Given the description of an element on the screen output the (x, y) to click on. 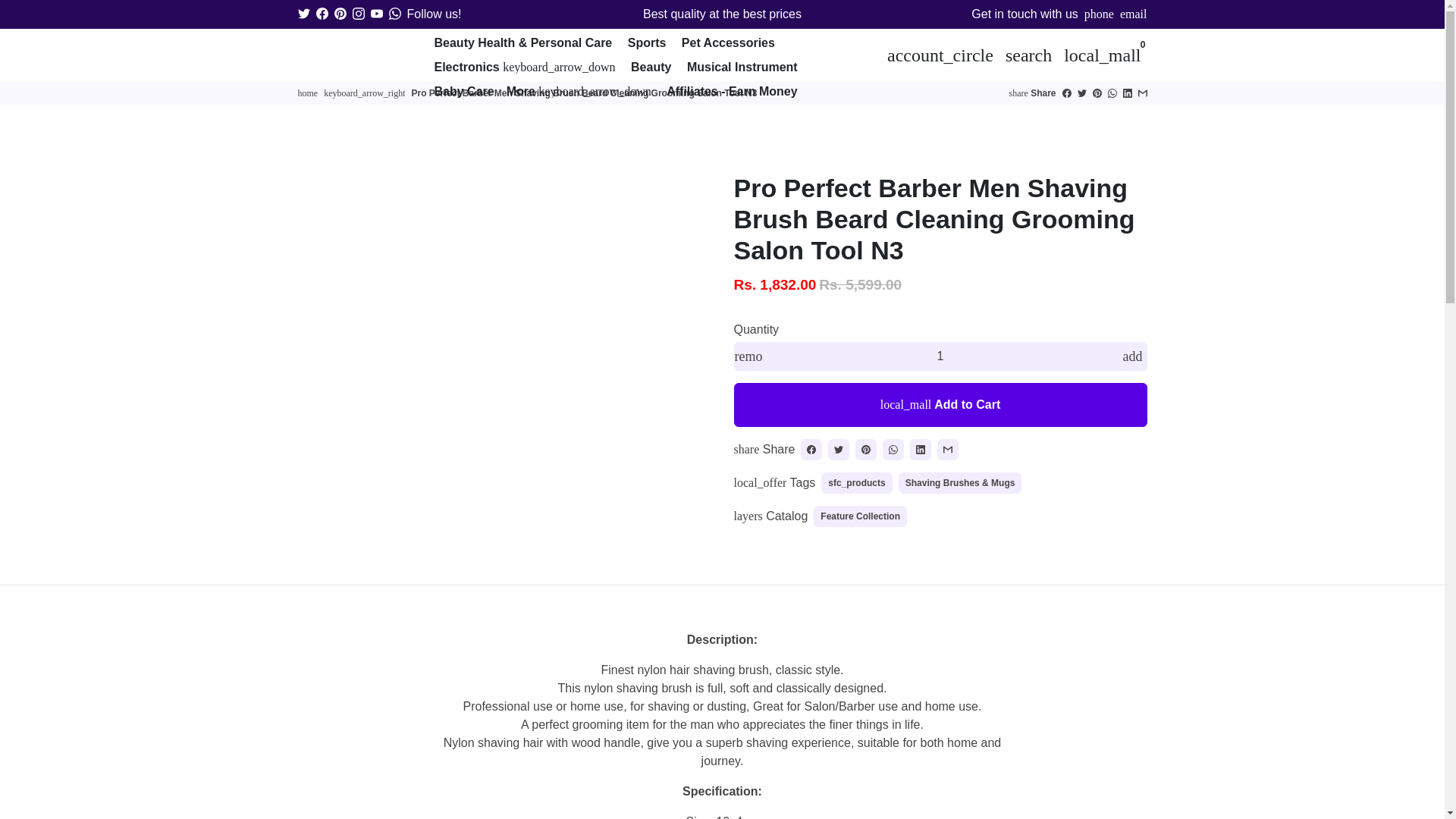
ikabestbuy on Youtube (375, 13)
ikabestbuy on Pinterest (339, 13)
ikabestbuy on Instagram (358, 13)
ikabestbuy on Twitter (302, 13)
1 (940, 356)
ikabestbuy on Facebook (321, 13)
